Given the description of an element on the screen output the (x, y) to click on. 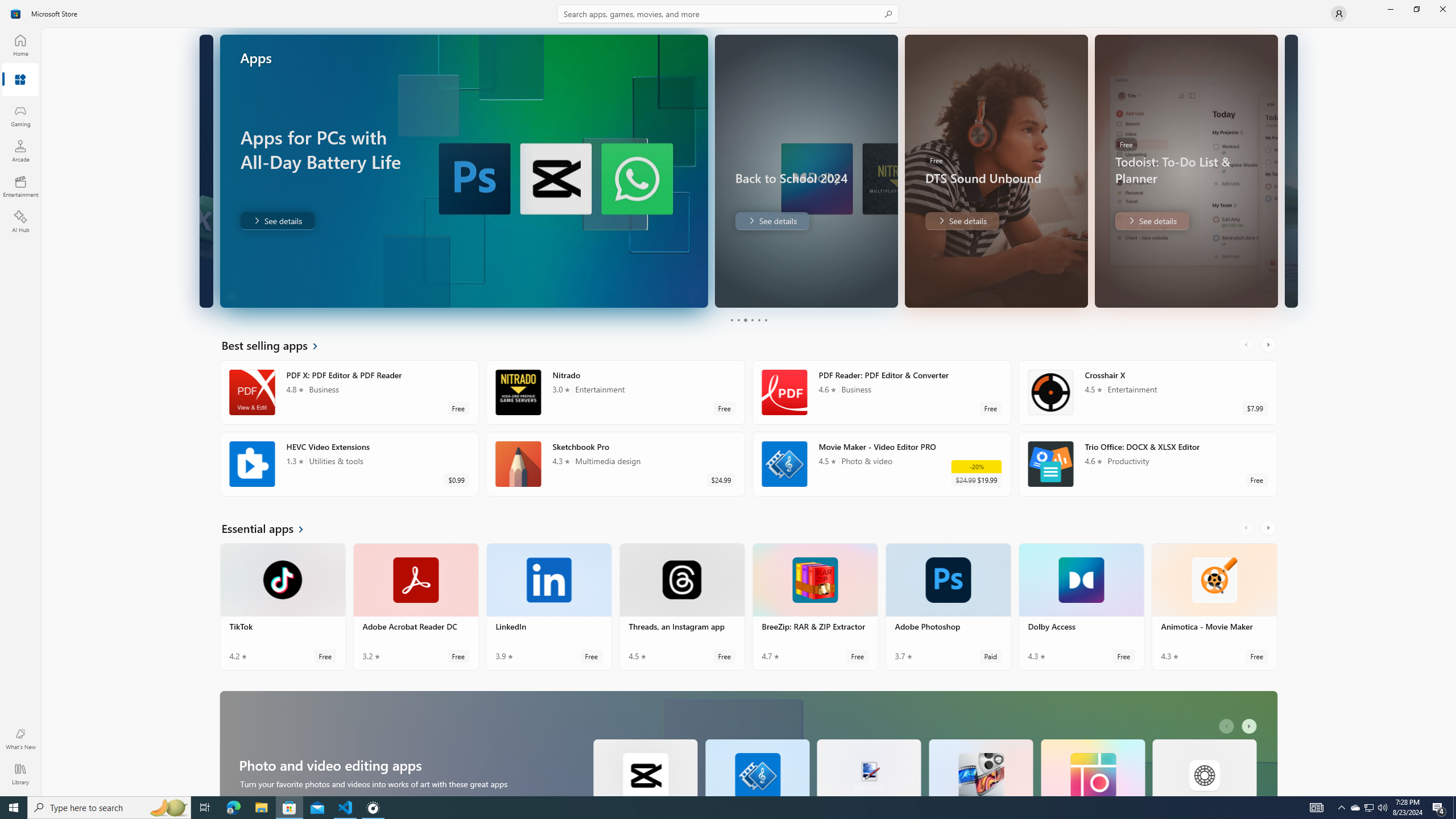
AutomationID: LeftScrollButton (1227, 726)
See all  Essential apps (269, 527)
Page 5 (758, 319)
